Given the description of an element on the screen output the (x, y) to click on. 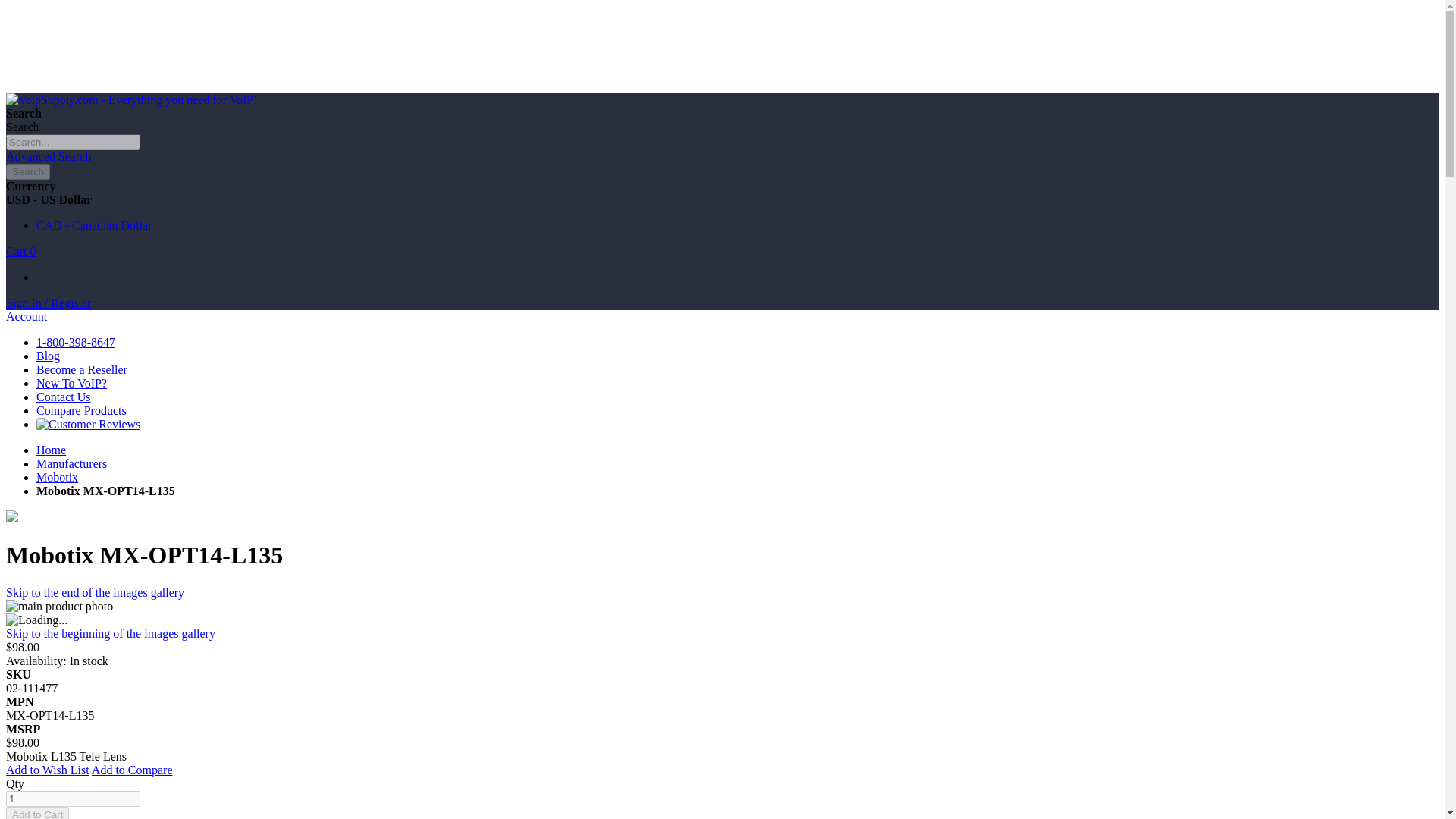
Contact Us (63, 396)
Become a Reseller (82, 369)
VoipSupply.com - Everything you need for VoIP! (131, 99)
Skip to the beginning of the images gallery (110, 633)
Search (27, 171)
Skip to the end of the images gallery (94, 592)
Compare Products (81, 410)
Blog (47, 355)
1-800-398-8647 (75, 341)
Search (27, 171)
New To VoIP? (71, 382)
My Account (47, 302)
Account (25, 316)
Add to Compare (132, 769)
Add to Cart (36, 812)
